Given the description of an element on the screen output the (x, y) to click on. 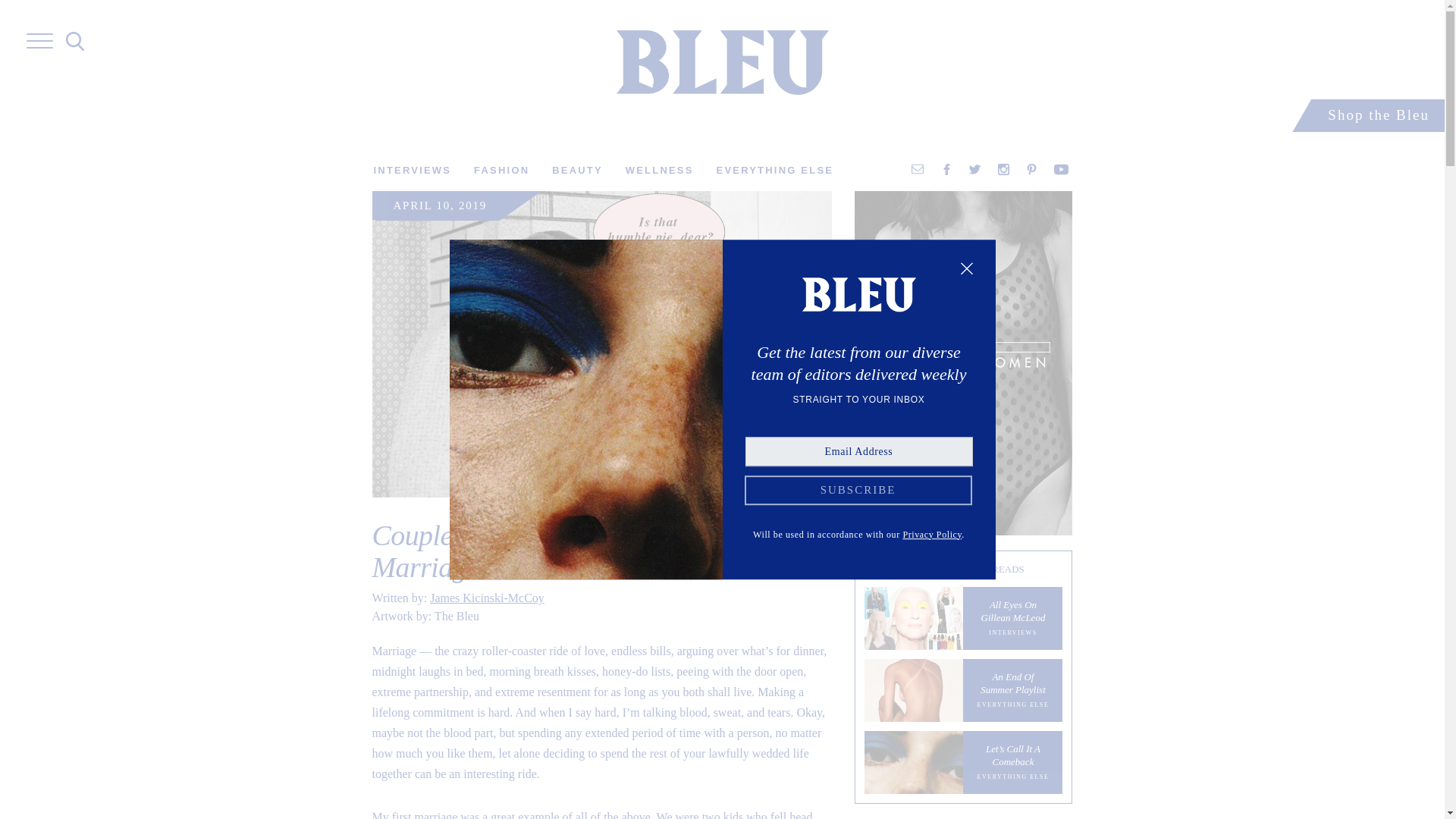
James Kicinski-McCoy (486, 597)
INTERVIEWS (411, 170)
WELLNESS (963, 618)
FASHION (660, 170)
EVERYTHING ELSE (501, 170)
BEAUTY (775, 170)
